Given the description of an element on the screen output the (x, y) to click on. 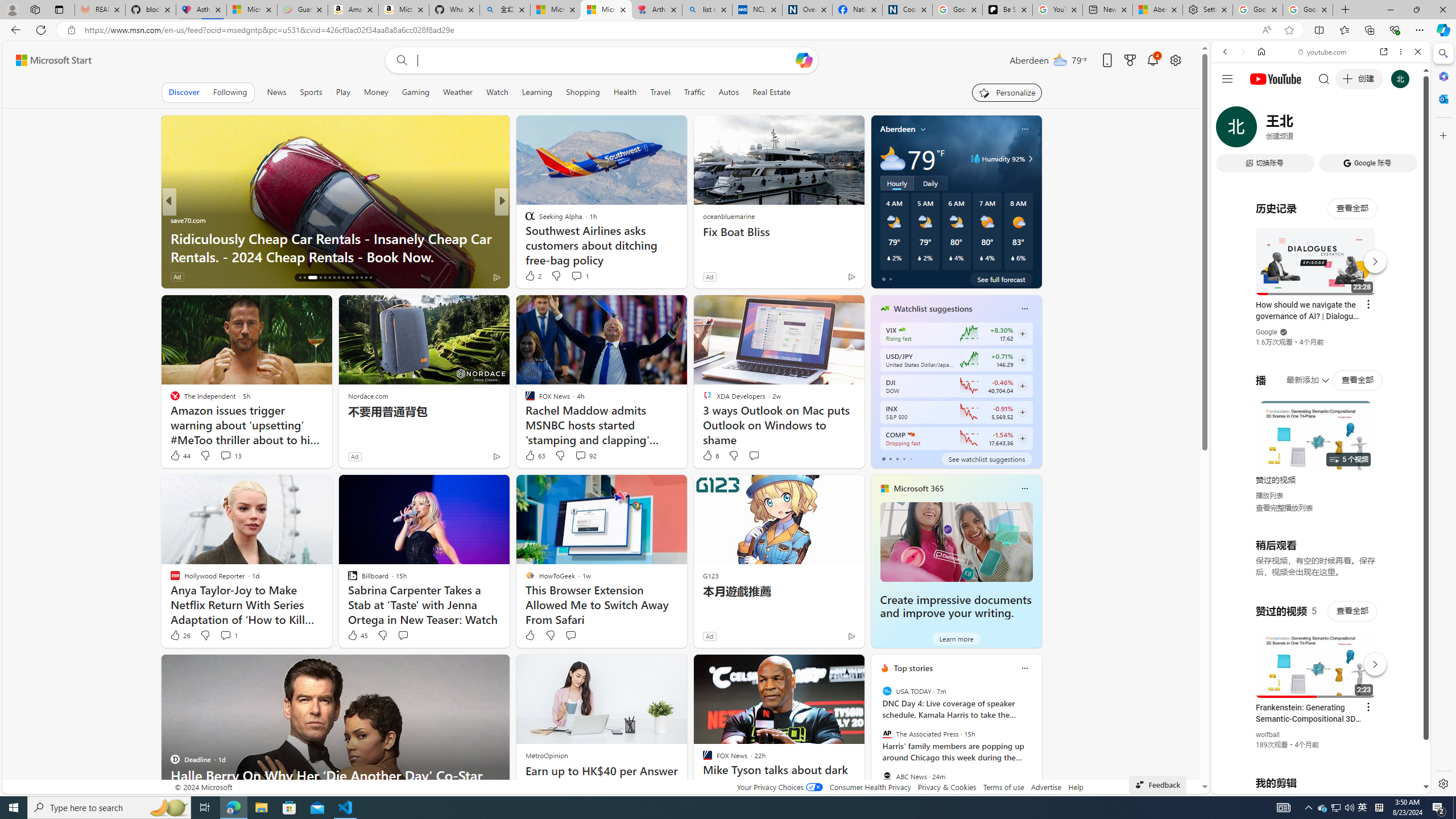
136 Like (532, 276)
Terms of use (1003, 786)
AutomationID: tab-17 (304, 277)
Gaming (415, 92)
Real Estate (771, 92)
AutomationID: tab-16 (299, 277)
View comments 7 Comment (580, 276)
